Given the description of an element on the screen output the (x, y) to click on. 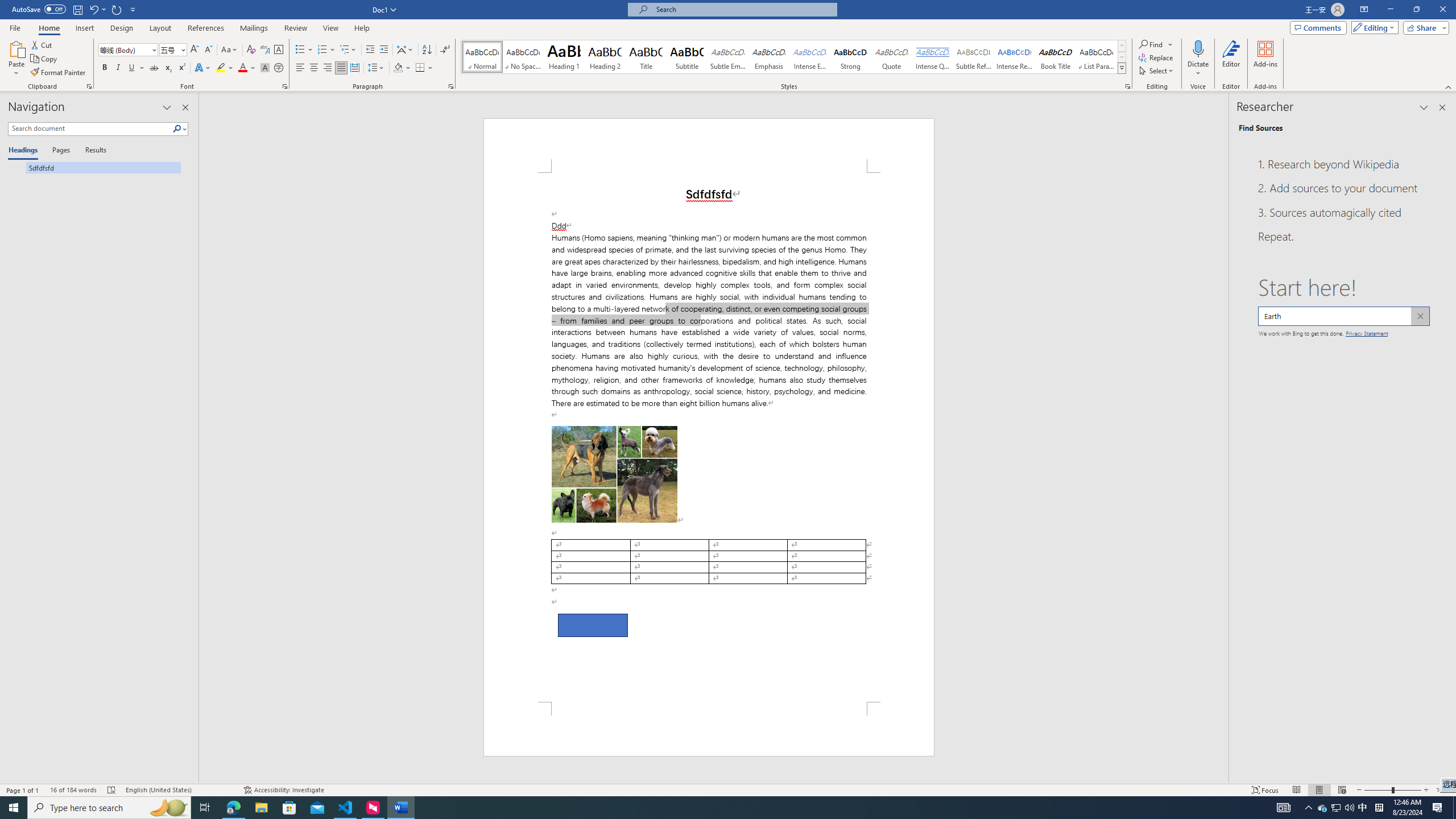
Borders (424, 67)
Class: MsoCommandBar (728, 789)
Subtle Emphasis (727, 56)
Find (1151, 44)
Styles... (1127, 85)
Morphological variation in six dogs (614, 473)
Strikethrough (154, 67)
Page Number Page 1 of 1 (22, 790)
Quote (891, 56)
Headings (25, 150)
Font... (285, 85)
Enclose Characters... (278, 67)
Comments (1318, 27)
Undo  (92, 9)
